Given the description of an element on the screen output the (x, y) to click on. 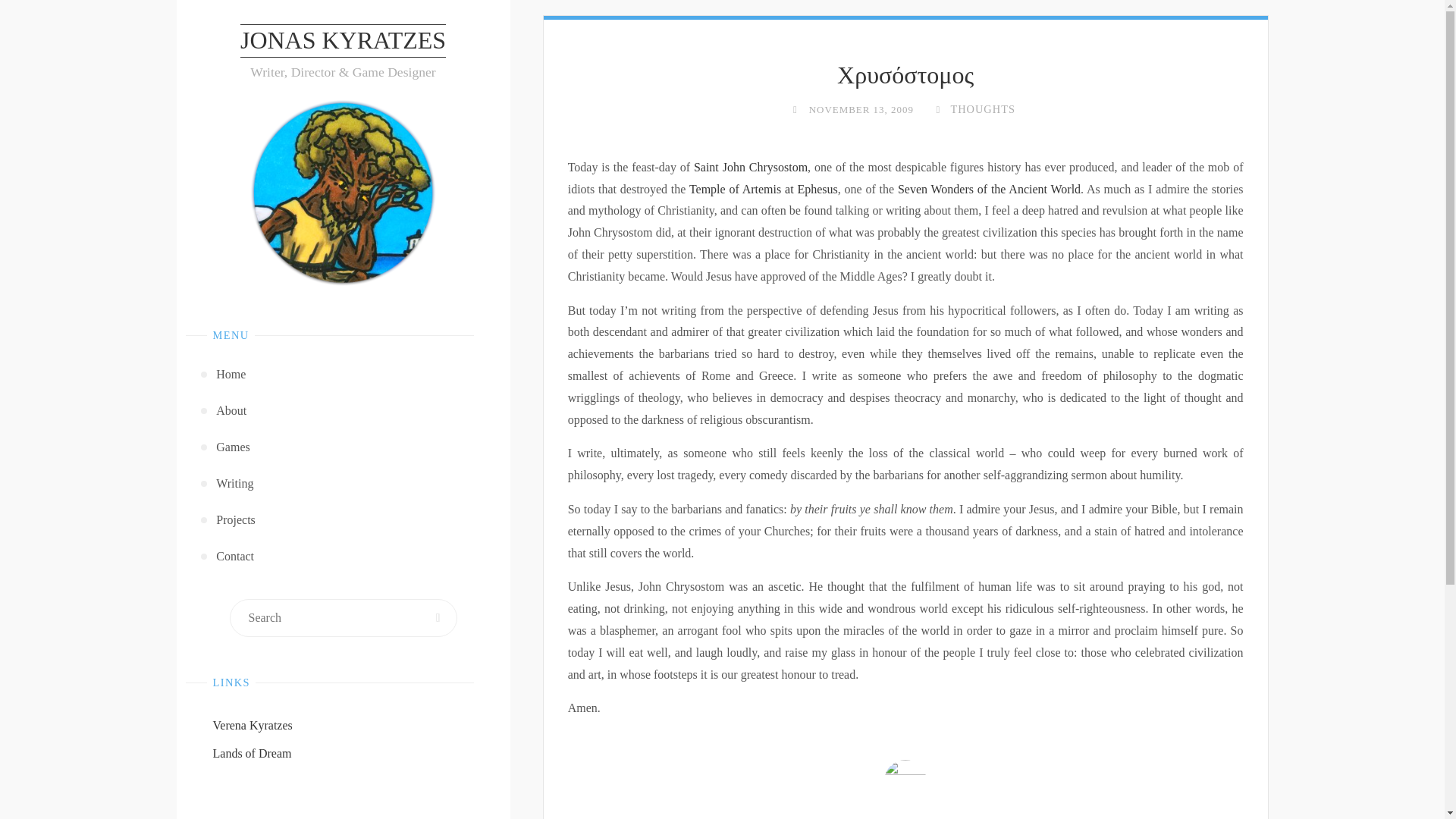
Projects (344, 520)
JONAS KYRATZES (342, 40)
Games (344, 447)
Date (794, 109)
THOUGHTS (981, 109)
Categories (937, 109)
About (344, 411)
Writing (344, 484)
Temple of Artemis at Ephesus (763, 188)
Home (344, 374)
